Given the description of an element on the screen output the (x, y) to click on. 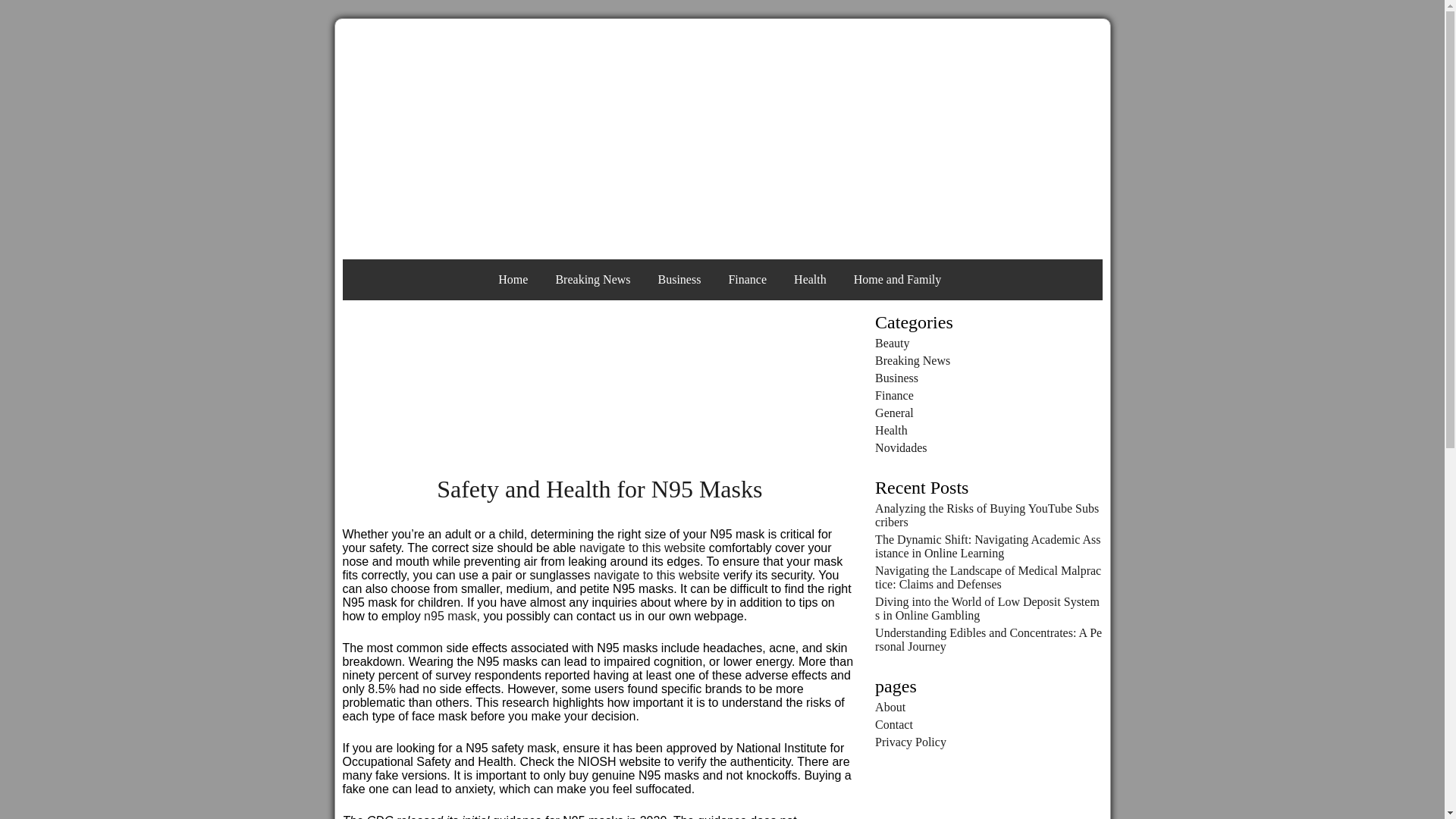
About (890, 707)
Business (896, 377)
Novidades (900, 447)
Health (809, 279)
Diy Wireless (721, 135)
Analyzing the Risks of Buying YouTube Subscribers (987, 515)
General (894, 412)
navigate to this website (656, 574)
Business (679, 279)
